Given the description of an element on the screen output the (x, y) to click on. 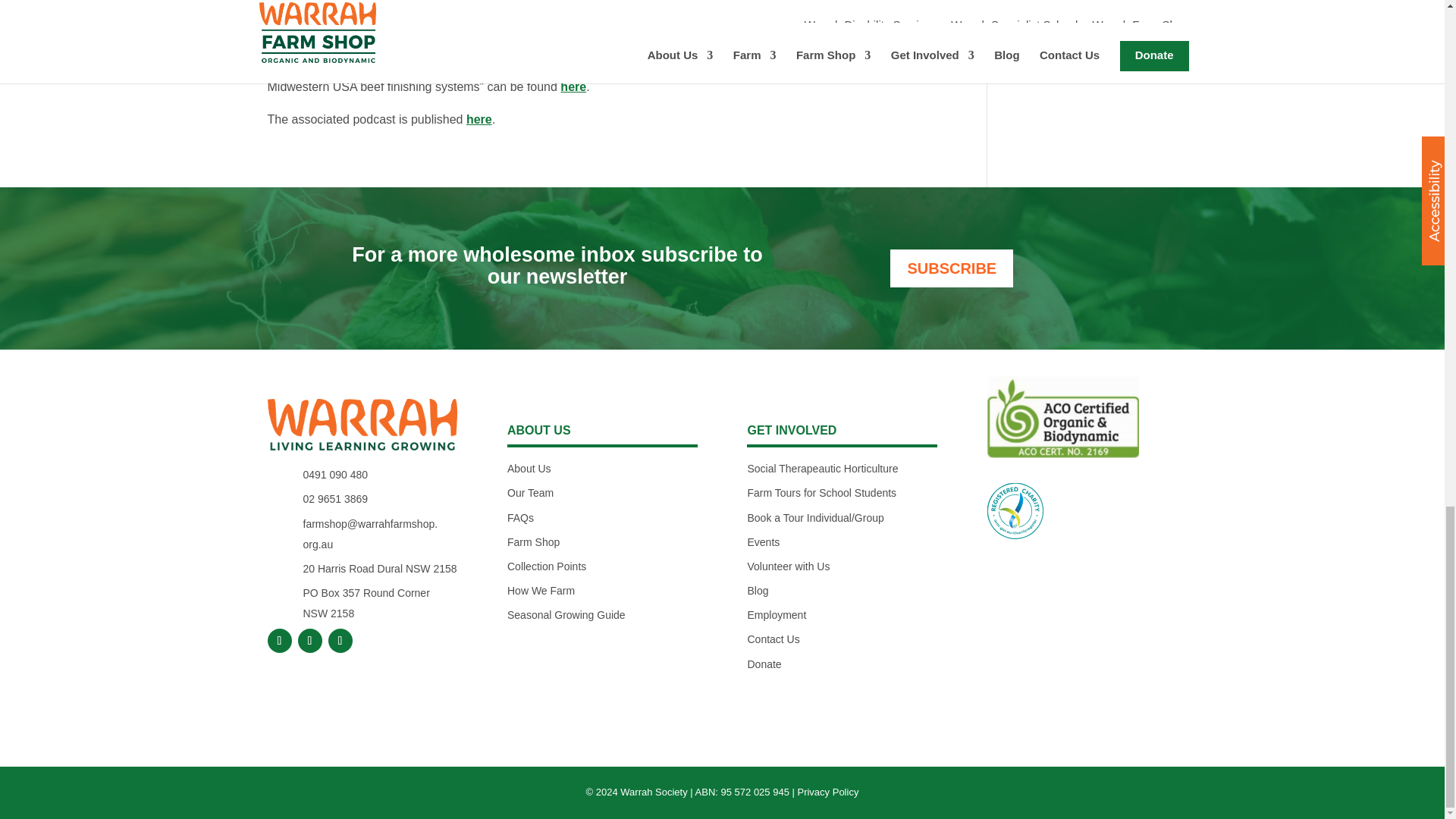
Follow on Facebook (278, 640)
Follow on Instagram (309, 640)
registered-charity (1015, 510)
Follow on LinkedIn (339, 640)
